Given the description of an element on the screen output the (x, y) to click on. 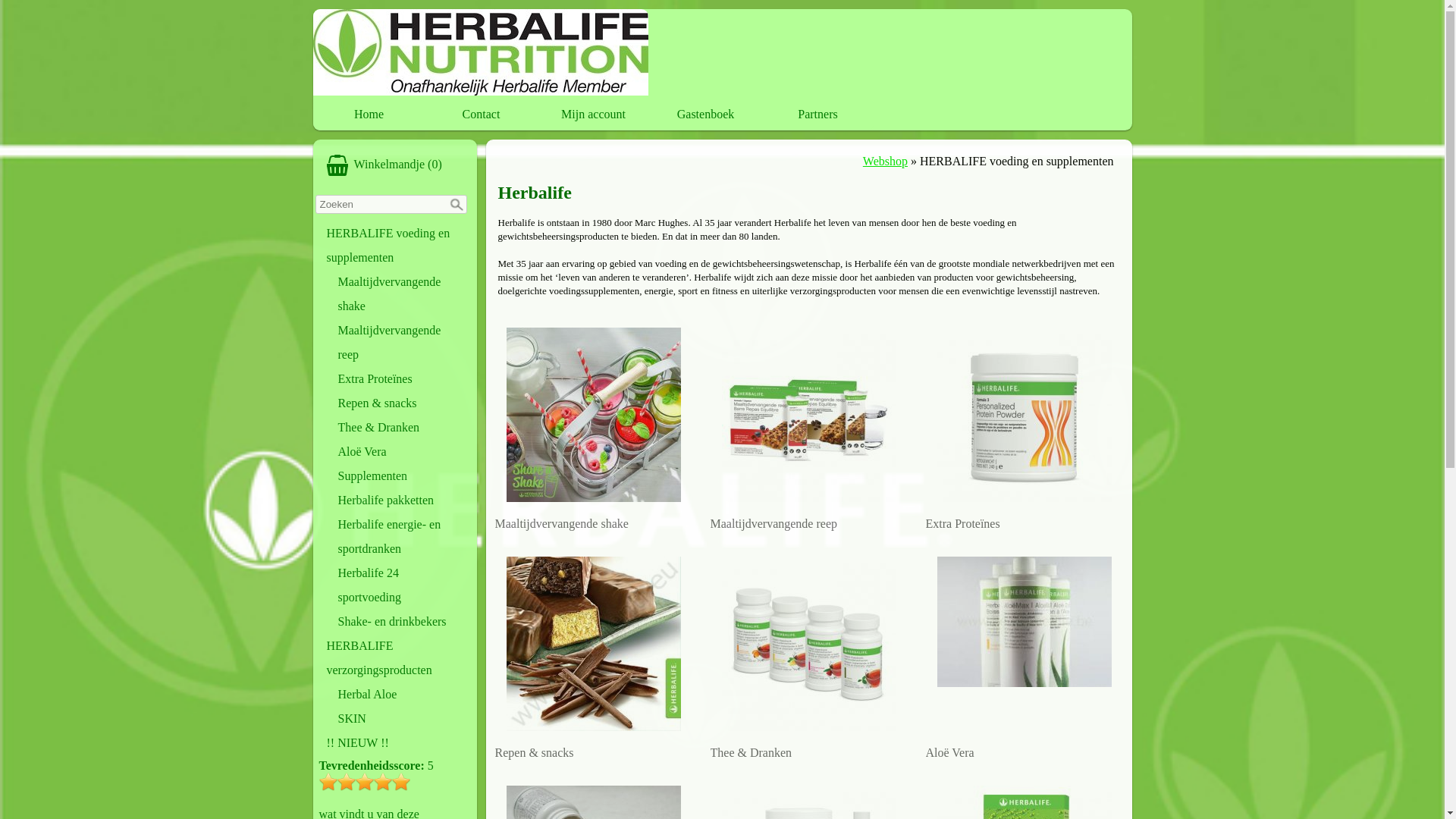
SKIN Element type: text (399, 718)
Maaltijdvervangende reep Element type: text (807, 425)
Webshop Element type: text (884, 160)
WinkelmandjeWinkelmandje (0) Element type: text (394, 164)
Contact Element type: text (481, 114)
Maaltijdvervangende shake Element type: text (399, 293)
Maaltijdvervangende shake Element type: text (592, 425)
Herbalife energie- en sportdranken Element type: text (399, 536)
Mijn account Element type: text (593, 114)
Home Element type: text (368, 114)
Repen & snacks Element type: text (399, 403)
Maaltijdvervangende reep Element type: text (399, 342)
Thee & Dranken Element type: text (807, 654)
!! NIEUW !! Element type: text (394, 743)
Shake- en drinkbekers Element type: text (399, 621)
Partners Element type: text (817, 114)
HERBALIFE voeding en supplementen Element type: text (394, 245)
Supplementen Element type: text (399, 476)
Herbalife 24 sportvoeding Element type: text (399, 585)
Herbal Aloe Element type: text (399, 694)
Gastenboek Element type: text (705, 114)
Thee & Dranken Element type: text (399, 427)
Herbalife pakketten Element type: text (399, 500)
Repen & snacks Element type: text (592, 654)
HERBALIFE verzorgingsproducten Element type: text (394, 657)
